Given the description of an element on the screen output the (x, y) to click on. 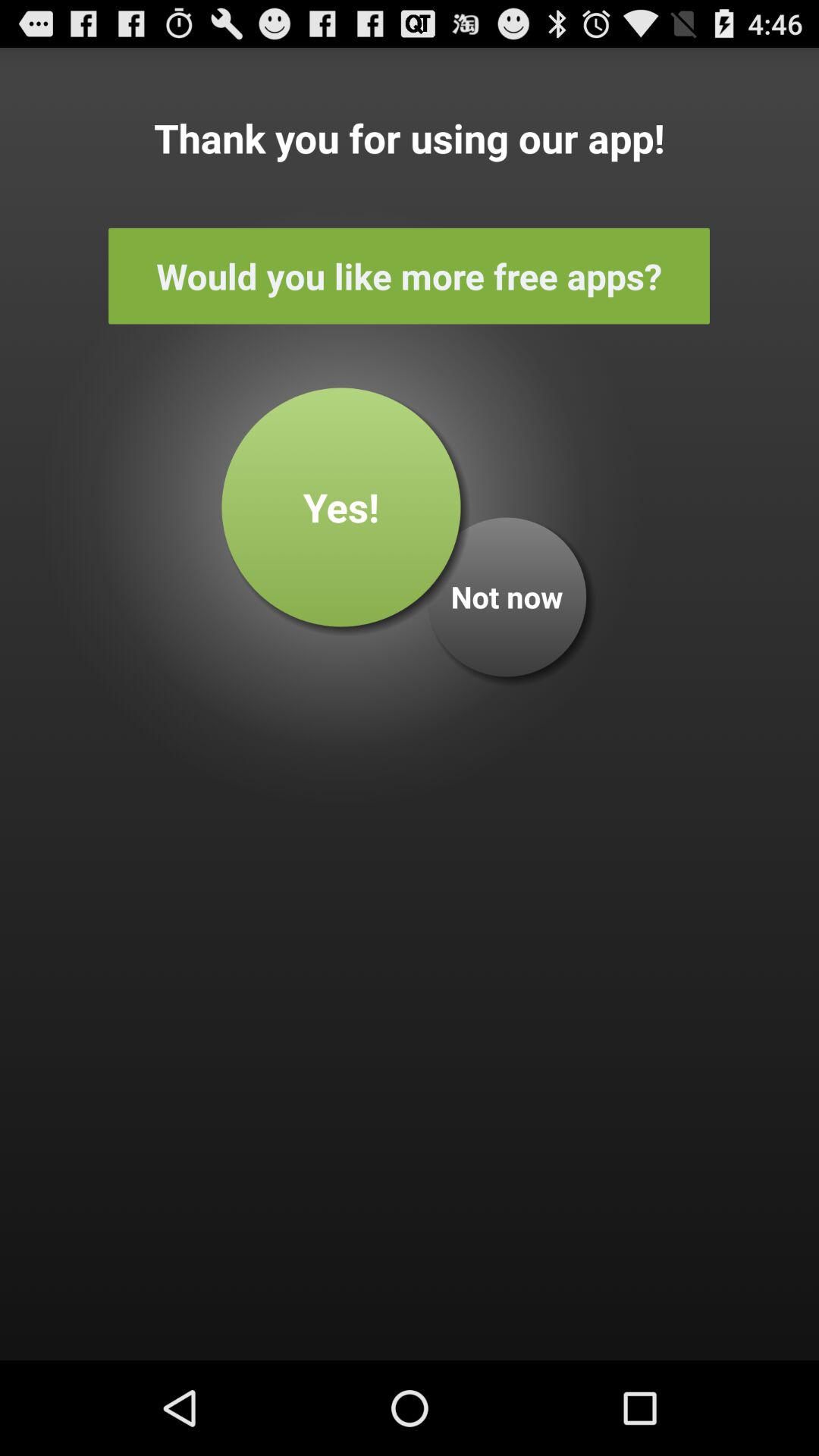
turn on yes! app (340, 506)
